Given the description of an element on the screen output the (x, y) to click on. 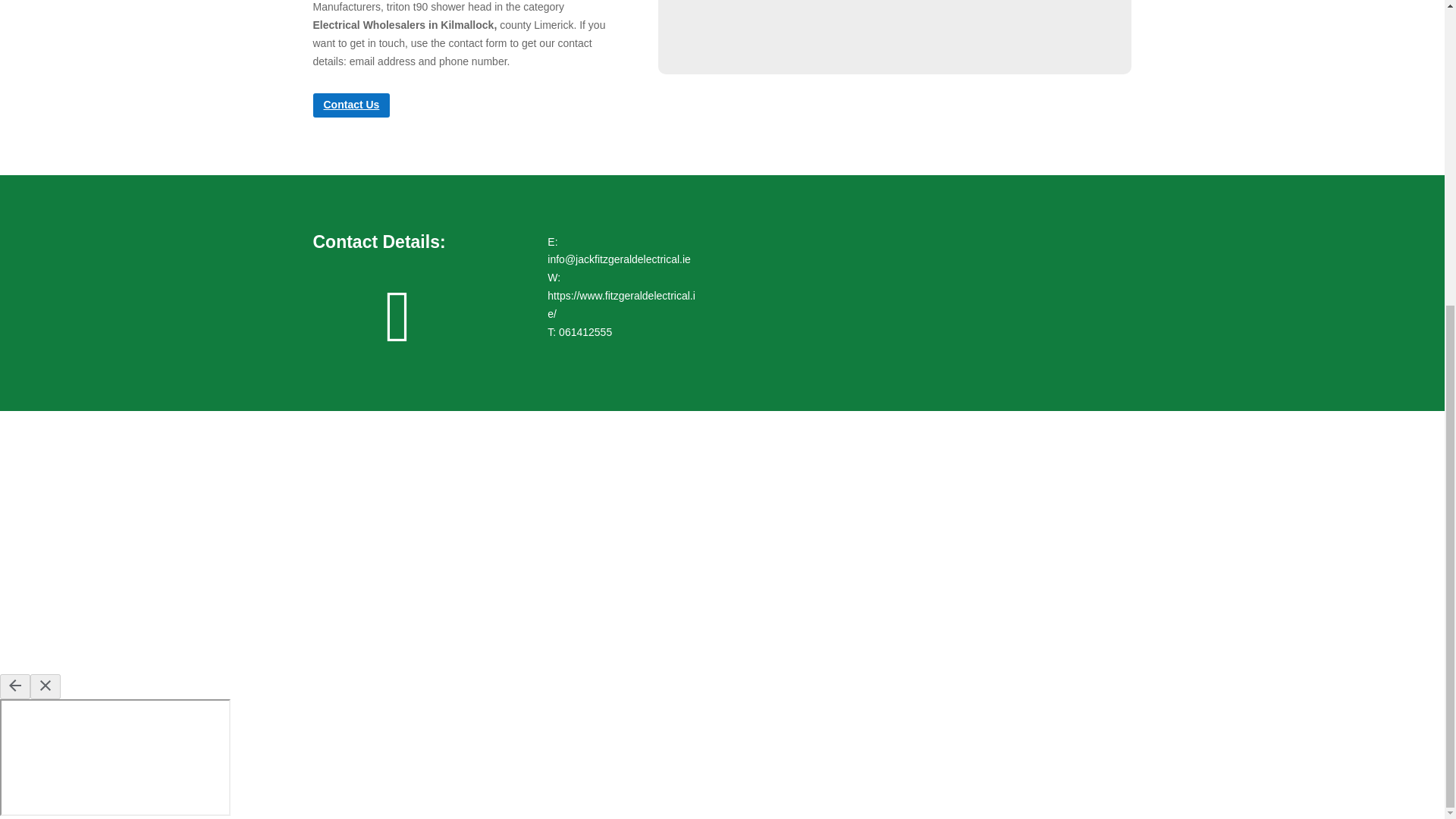
Contact Us (351, 105)
